Given the description of an element on the screen output the (x, y) to click on. 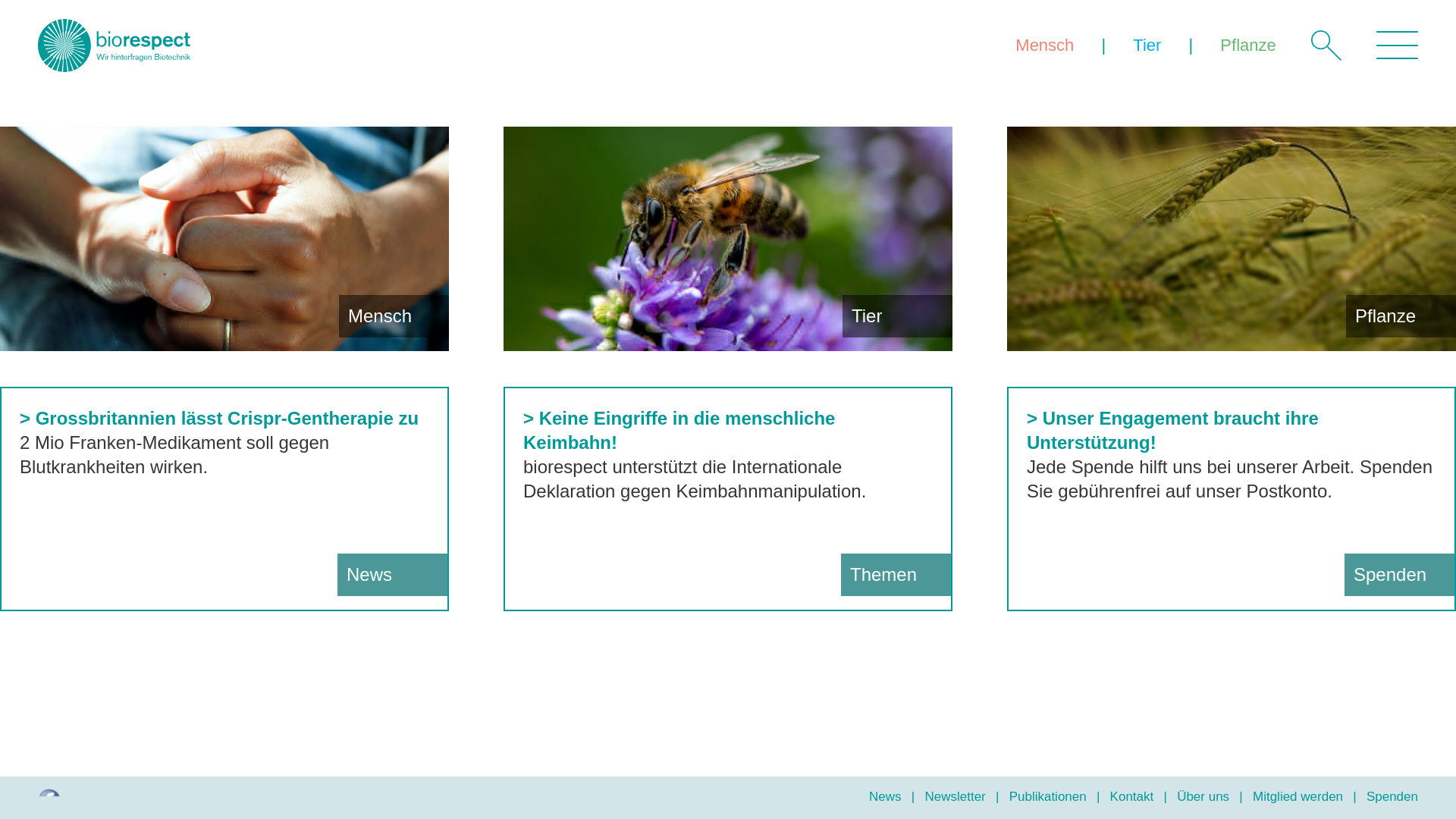
Spenden Element type: text (1392, 796)
Pflanze Element type: text (1247, 45)
Mitglied werden Element type: text (1297, 796)
Mensch Element type: text (224, 238)
Mensch Element type: text (1044, 45)
News Element type: text (885, 796)
Publikationen Element type: text (1047, 796)
Newsletter Element type: text (954, 796)
Tier Element type: text (1146, 45)
Kontakt Element type: text (1132, 796)
Tier Element type: text (727, 238)
